Given the description of an element on the screen output the (x, y) to click on. 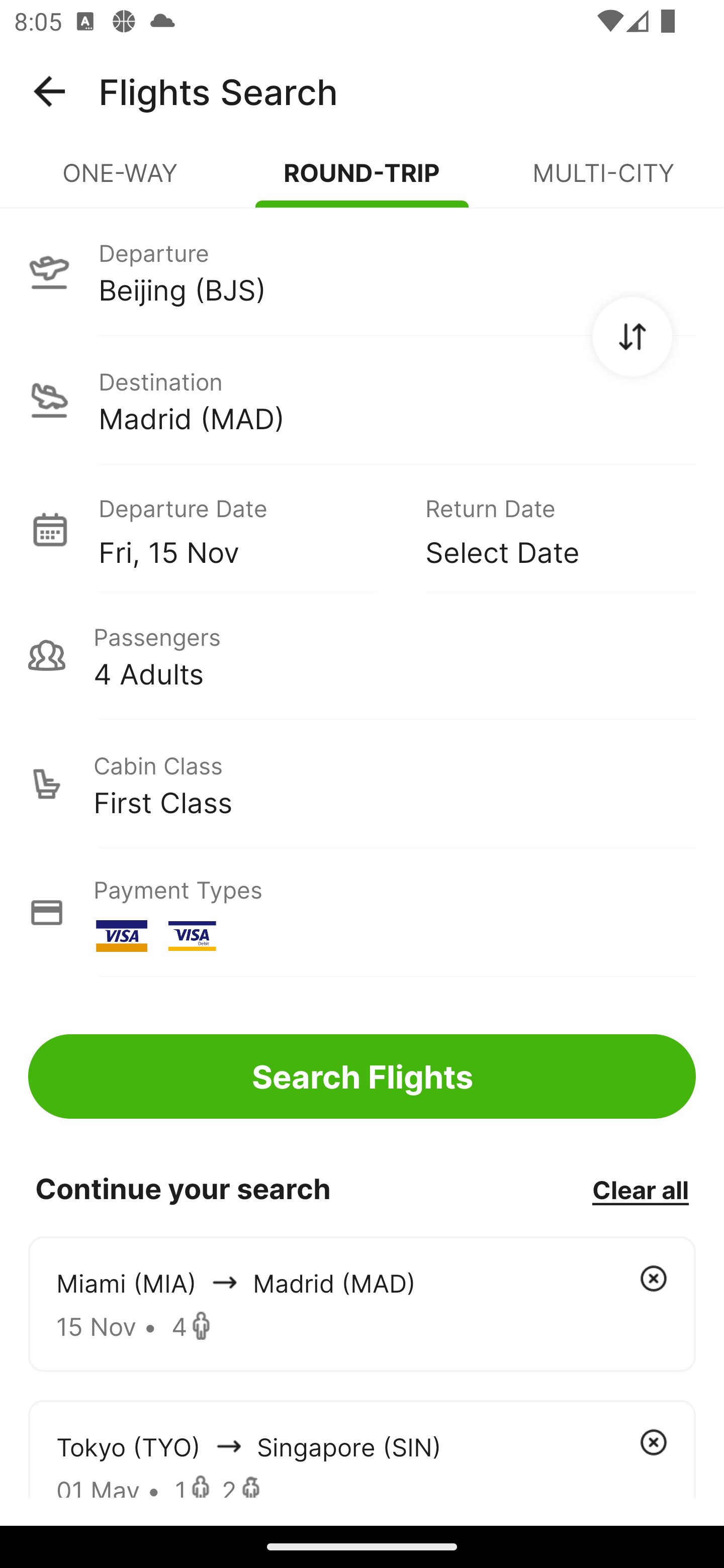
ONE-WAY (120, 180)
ROUND-TRIP (361, 180)
MULTI-CITY (603, 180)
Departure Beijing (BJS) (362, 270)
Destination Madrid (MAD) (362, 400)
Departure Date Fri, 15 Nov (247, 528)
Return Date Select Date (546, 528)
Passengers 4 Adults (362, 655)
Cabin Class First Class (362, 783)
Payment Types (362, 912)
Search Flights (361, 1075)
Clear all (640, 1189)
Miami (MIA)  arrowIcon  Madrid (MAD) 15 Nov •  4  (361, 1303)
